Given the description of an element on the screen output the (x, y) to click on. 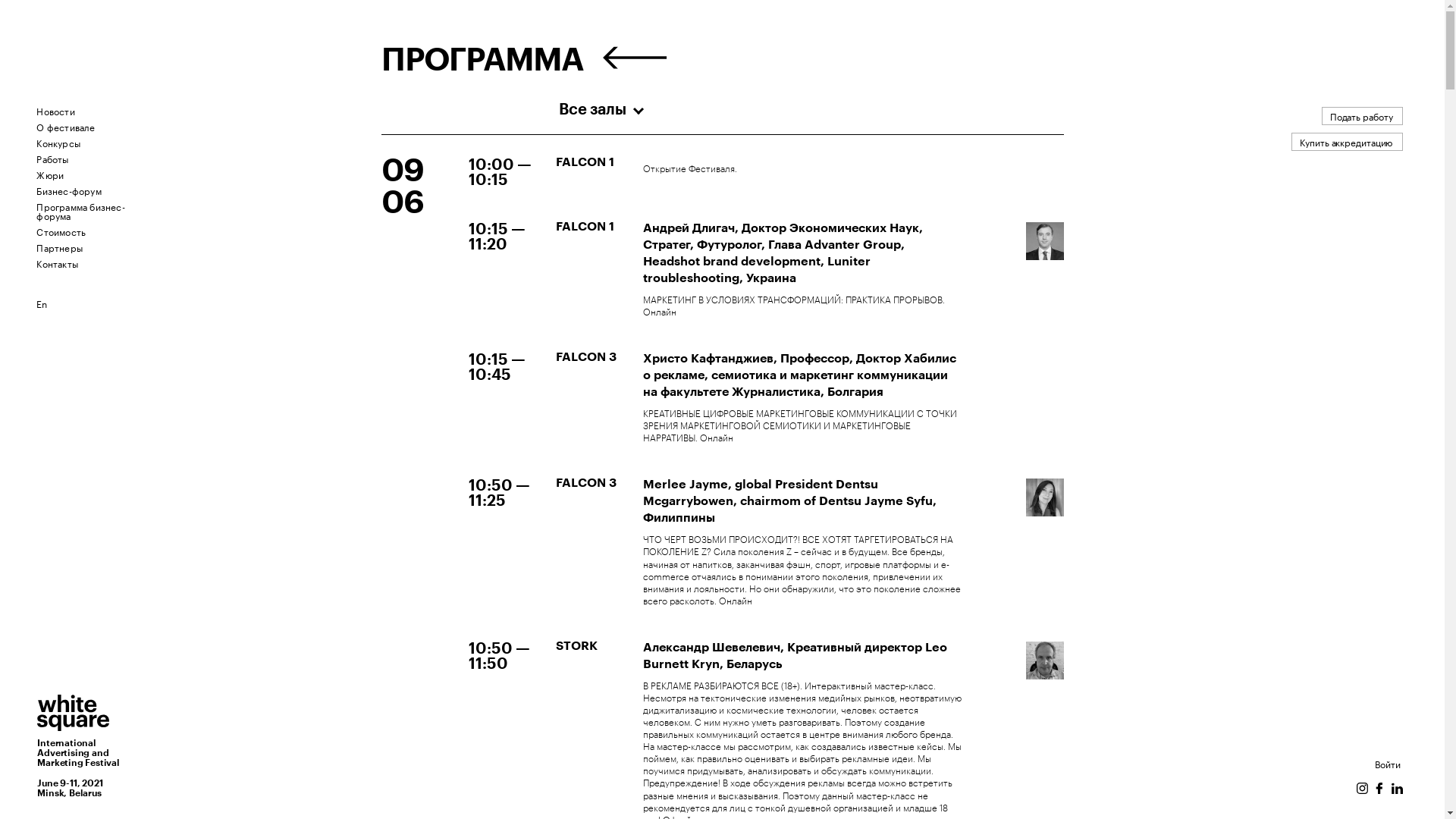
En Element type: text (41, 302)
